Given the description of an element on the screen output the (x, y) to click on. 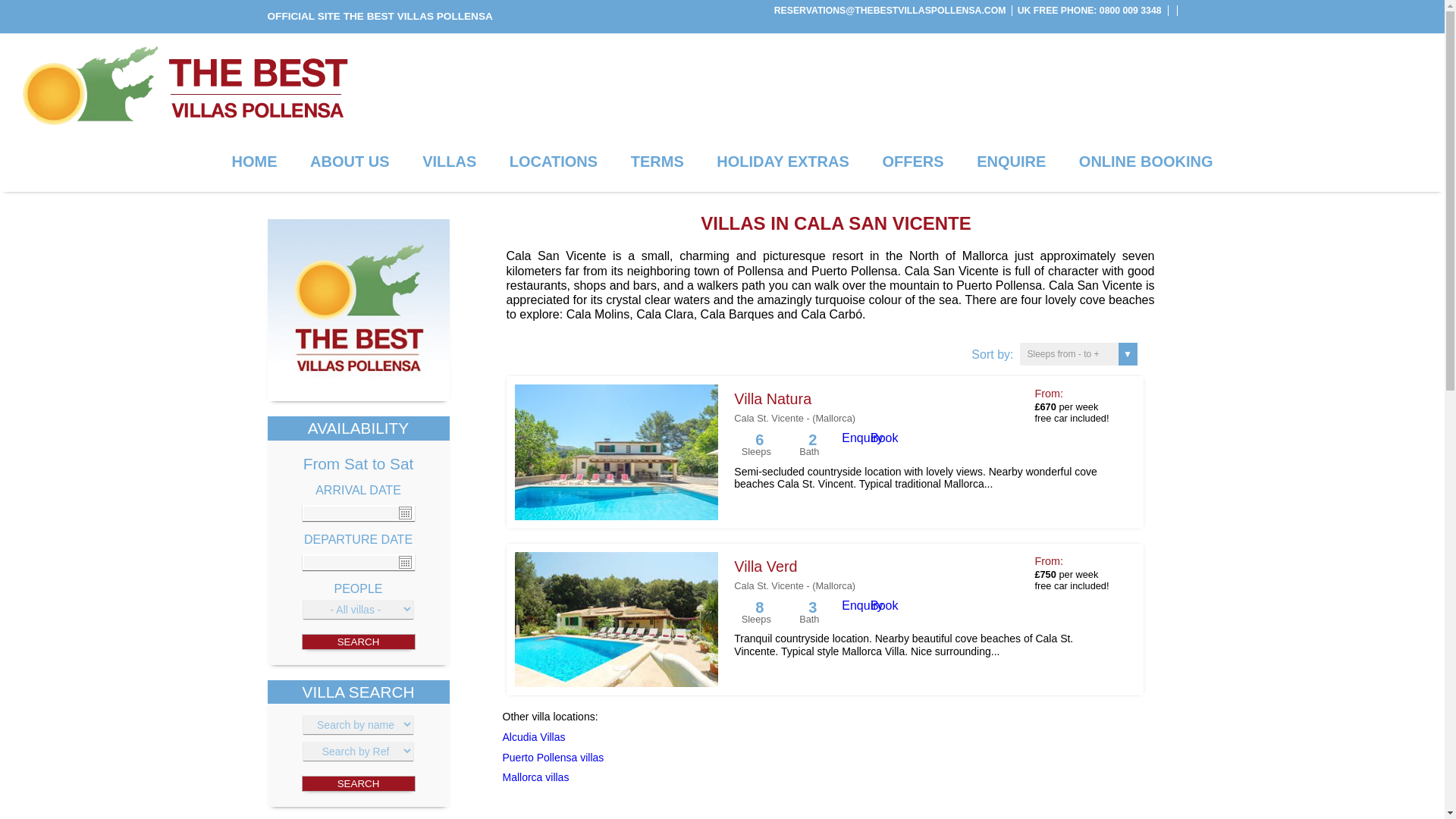
TBVP Home (357, 396)
LOCATIONS (552, 161)
The Best Villas Pollensa Terms and Conditions (658, 161)
SEARCH (357, 783)
Mallorca villas holiday extras (782, 161)
TERMS (658, 161)
Return to TBVP home, Pollensa villas. (357, 310)
VILLAS (448, 161)
Our holiday villas in Mallorca north (448, 161)
The Best Villas Pollensa TBVP - Mallorca (183, 85)
Special Offers (912, 161)
Our company (349, 161)
Contact villas (1011, 161)
Our Mallorca villas locations (552, 161)
ABOUT US (349, 161)
